Given the description of an element on the screen output the (x, y) to click on. 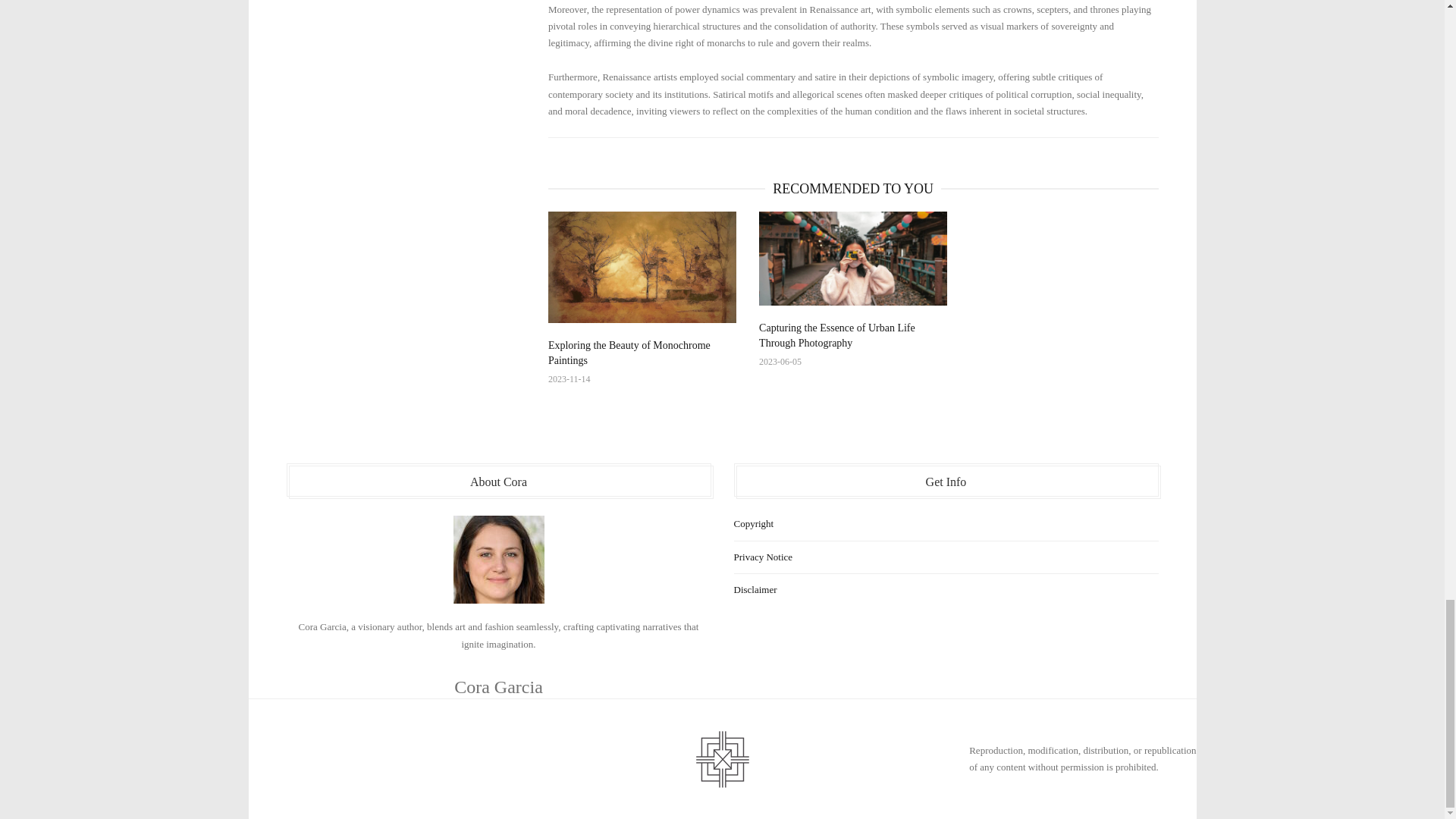
Exploring the Beauty of Monochrome Paintings (629, 352)
Capturing the Essence of Urban Life Through Photography (836, 335)
Capturing the Essence of Urban Life Through Photography (852, 258)
Exploring the Beauty of Monochrome Paintings (642, 267)
Exploring the Beauty of Monochrome Paintings (629, 352)
Capturing the Essence of Urban Life Through Photography (836, 335)
